Given the description of an element on the screen output the (x, y) to click on. 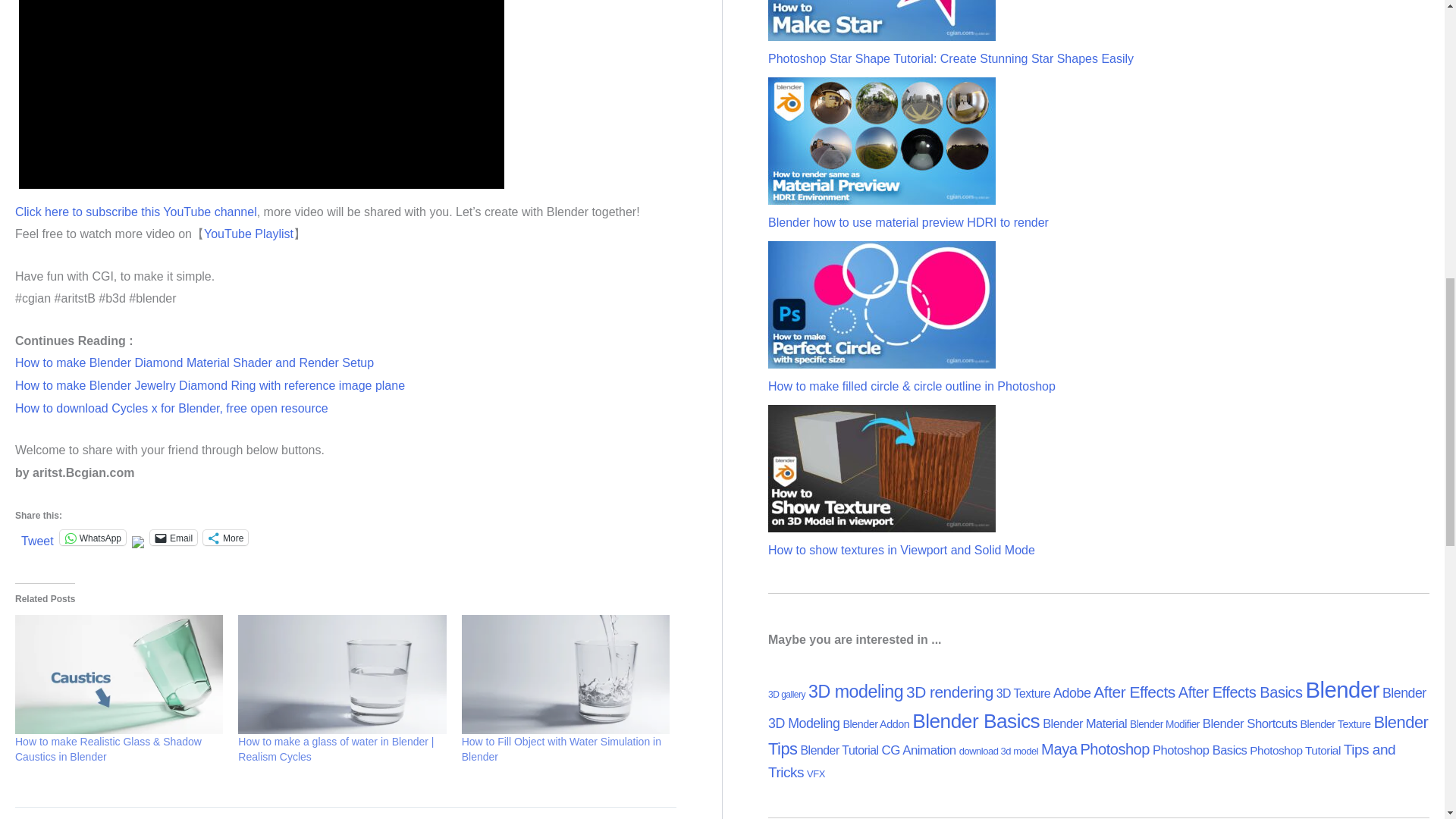
More (225, 537)
How to Fill Object with Water Simulation in Blender (565, 674)
WhatsApp (92, 537)
YouTube Playlist (248, 233)
How to make Blender Diamond Material Shader and Render Setup (194, 362)
How to download Cycles x for Blender, free open resource (171, 408)
Watch this video on YouTube (260, 96)
Tweet (37, 536)
Email (172, 537)
Click here to subscribe this YouTube channel (135, 211)
Click to email a link to a friend (172, 537)
How to Fill Object with Water Simulation in Blender (561, 748)
Click to share on WhatsApp (92, 537)
